Given the description of an element on the screen output the (x, y) to click on. 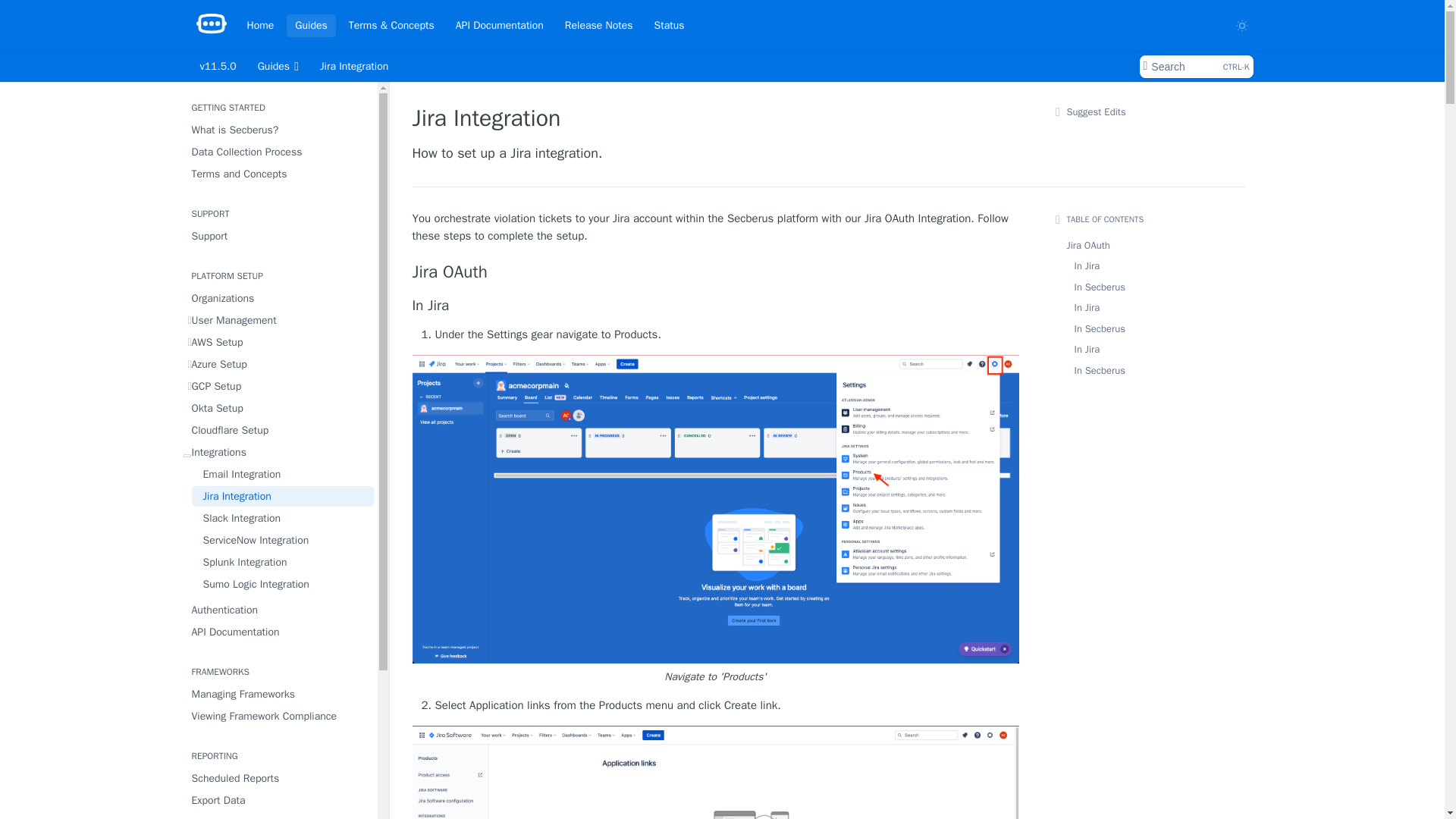
AWS Setup (277, 342)
Jira OAuth (715, 271)
Guides (277, 66)
User Management (277, 320)
Organizations (277, 298)
Azure Setup (277, 363)
Support (277, 236)
Data Collection Process (277, 151)
Guides (311, 24)
What is Secberus? (277, 129)
API Documentation (498, 24)
Terms and Concepts (277, 173)
Home (1195, 66)
Release Notes (260, 24)
